Given the description of an element on the screen output the (x, y) to click on. 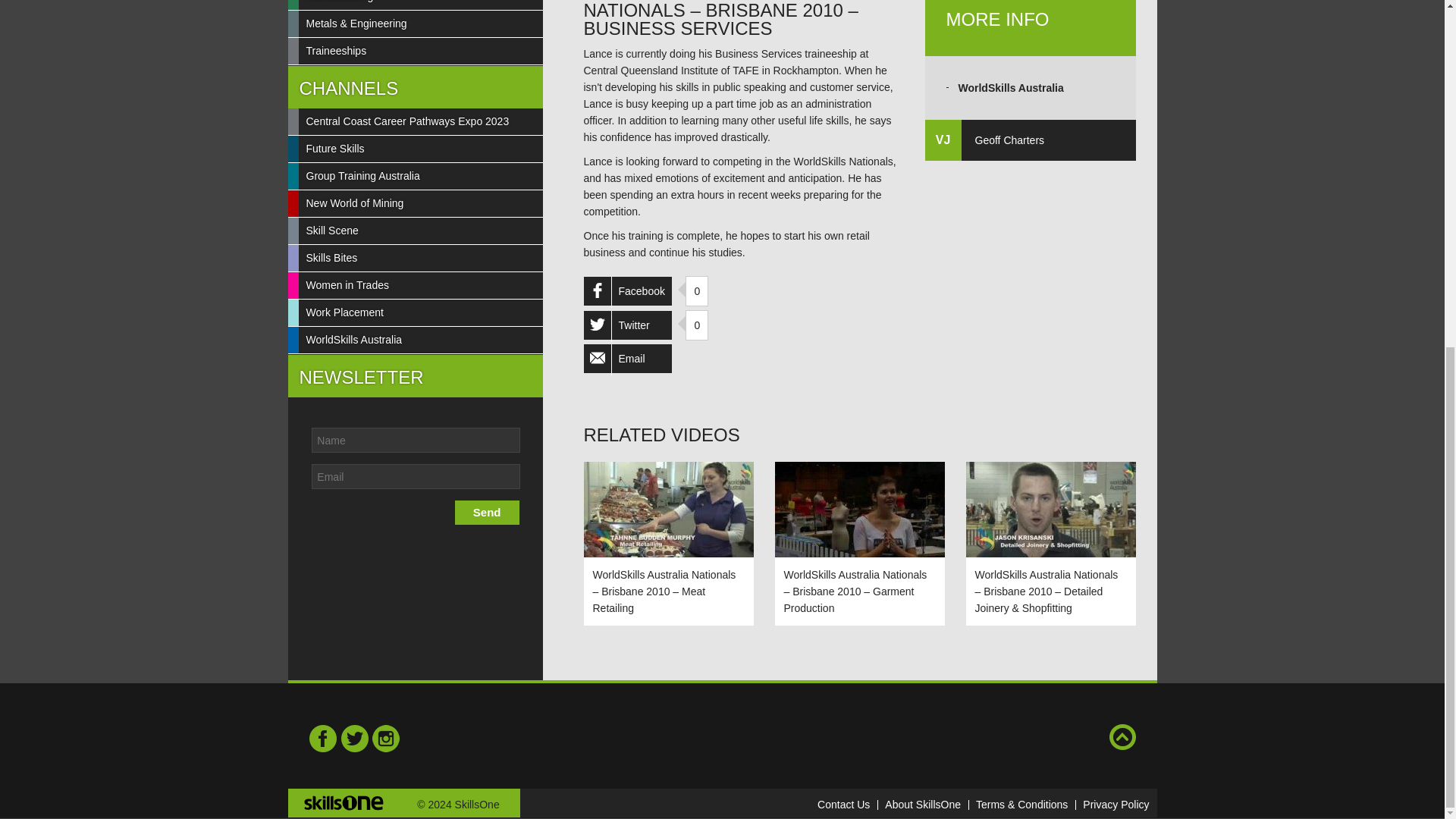
Instagram (385, 737)
Facebook (322, 737)
Send (486, 512)
Share by Email (627, 358)
WorldSkills Australia (1011, 87)
Twitter (627, 325)
Email (627, 358)
Facebook (627, 290)
Twitter (353, 737)
